Given the description of an element on the screen output the (x, y) to click on. 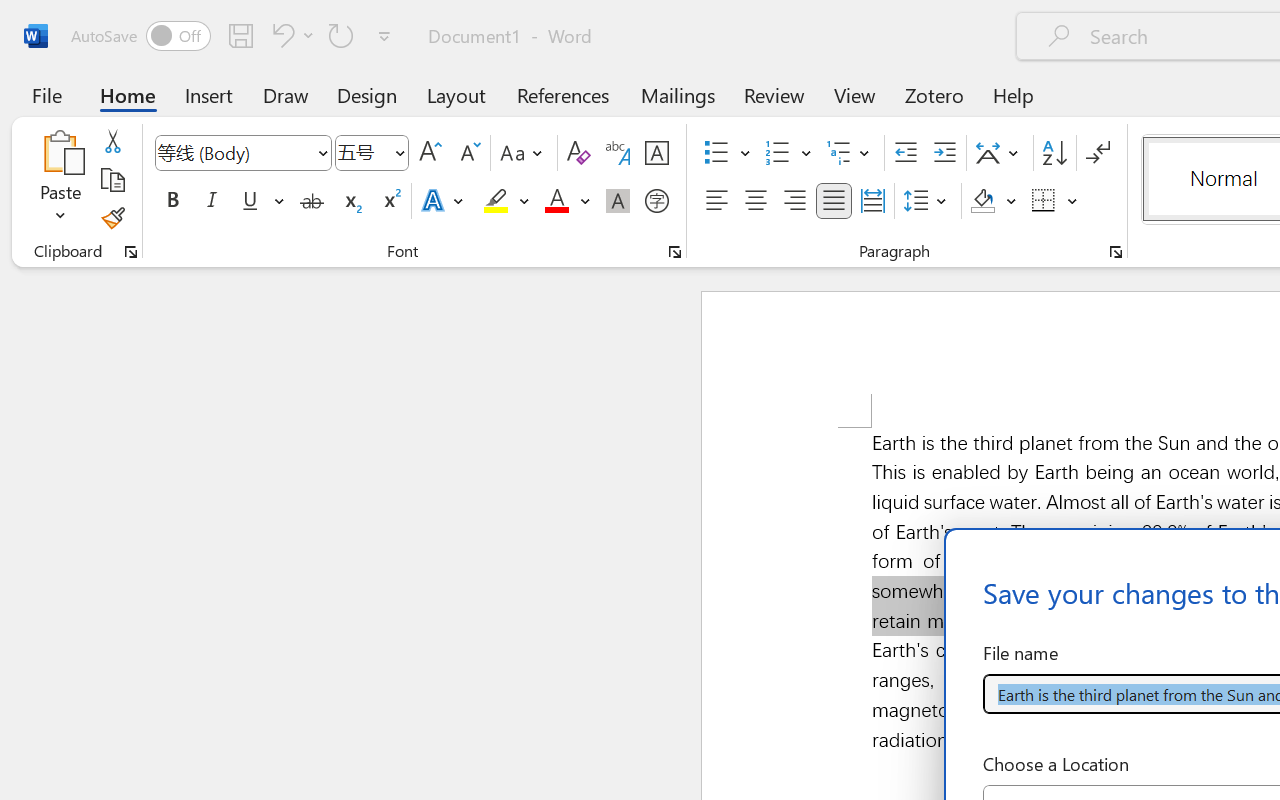
Font Color (567, 201)
Sort... (1054, 153)
Font Color Red (556, 201)
Line and Paragraph Spacing (927, 201)
Strikethrough (312, 201)
Format Painter (112, 218)
Text Highlight Color Yellow (495, 201)
Font... (675, 252)
Cut (112, 141)
Justify (834, 201)
